Given the description of an element on the screen output the (x, y) to click on. 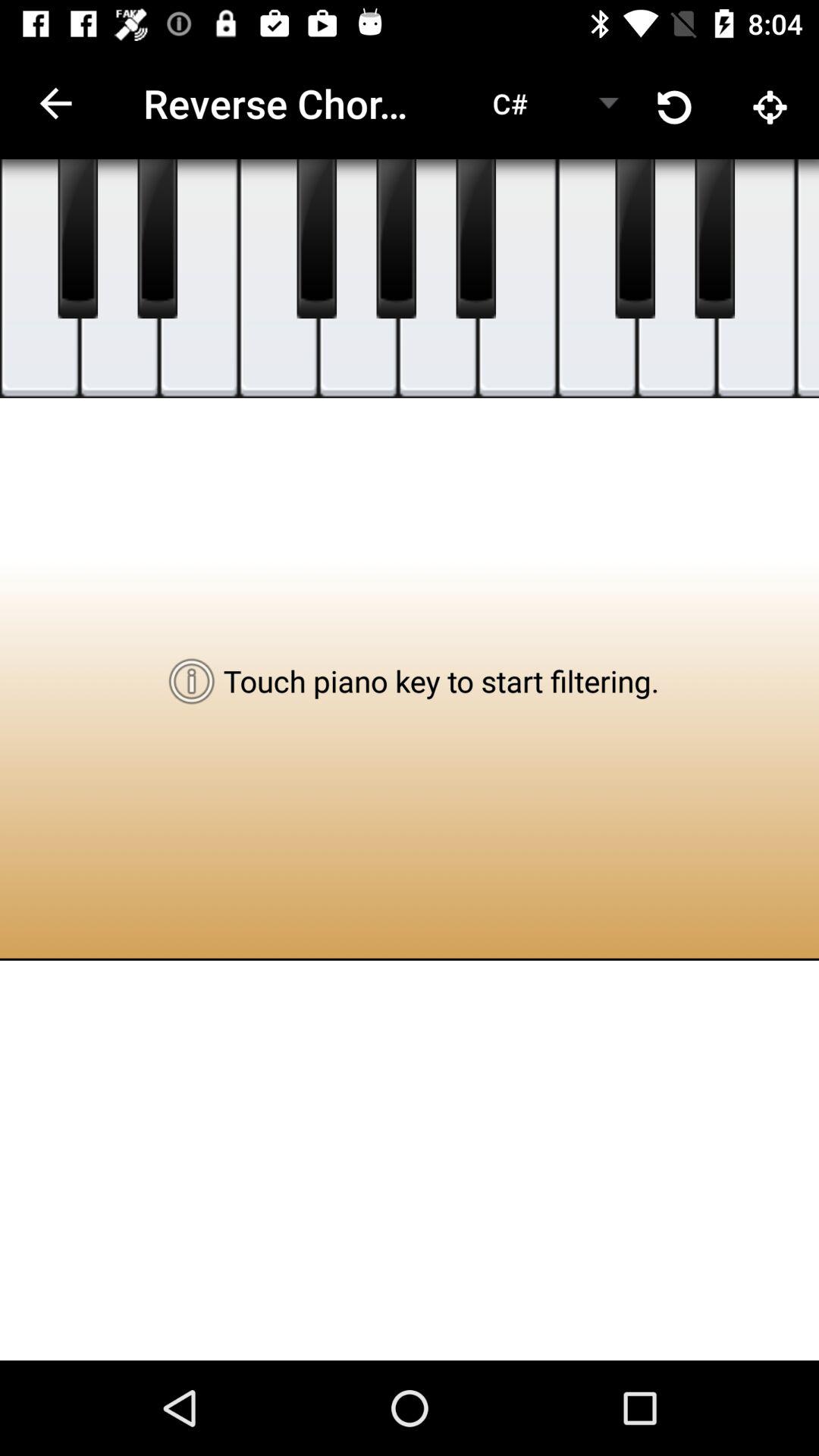
play paino (119, 278)
